Given the description of an element on the screen output the (x, y) to click on. 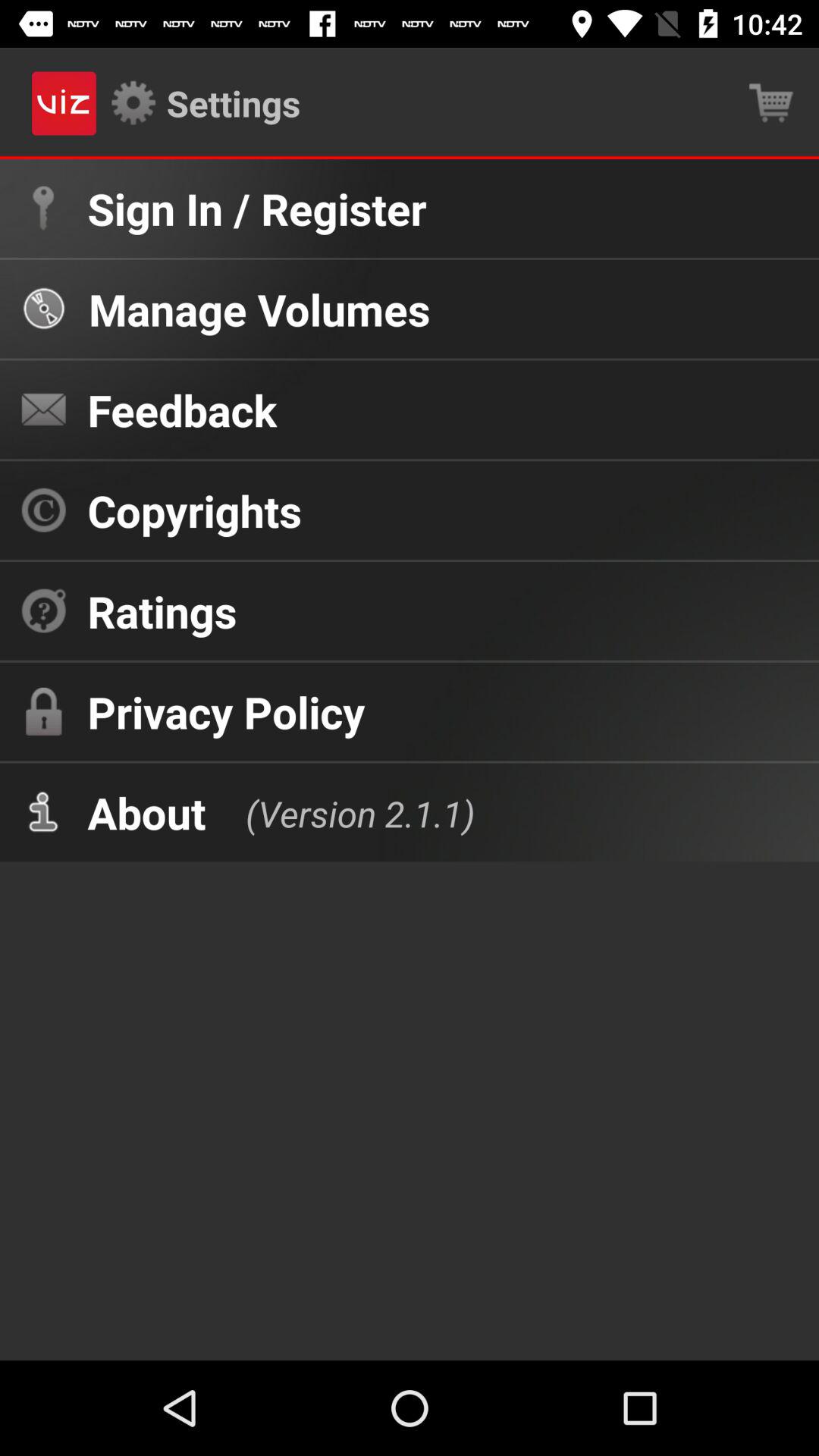
click on the icon in the first option at the top of the page (43, 207)
select on the cart image in the page (771, 103)
